Given the description of an element on the screen output the (x, y) to click on. 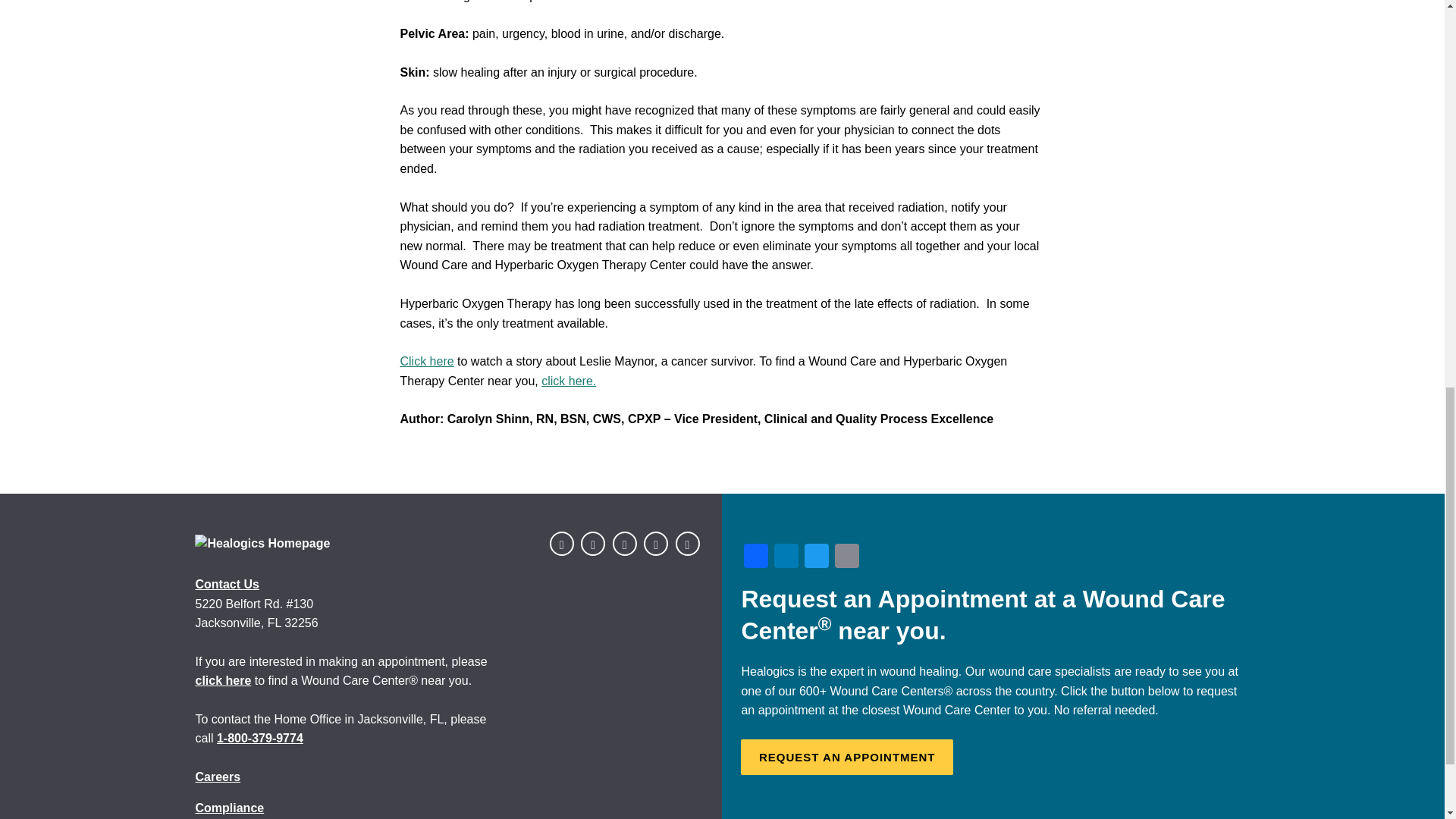
Facebook (756, 557)
Twitter (816, 557)
Email (846, 557)
LinkedIn (786, 557)
